Given the description of an element on the screen output the (x, y) to click on. 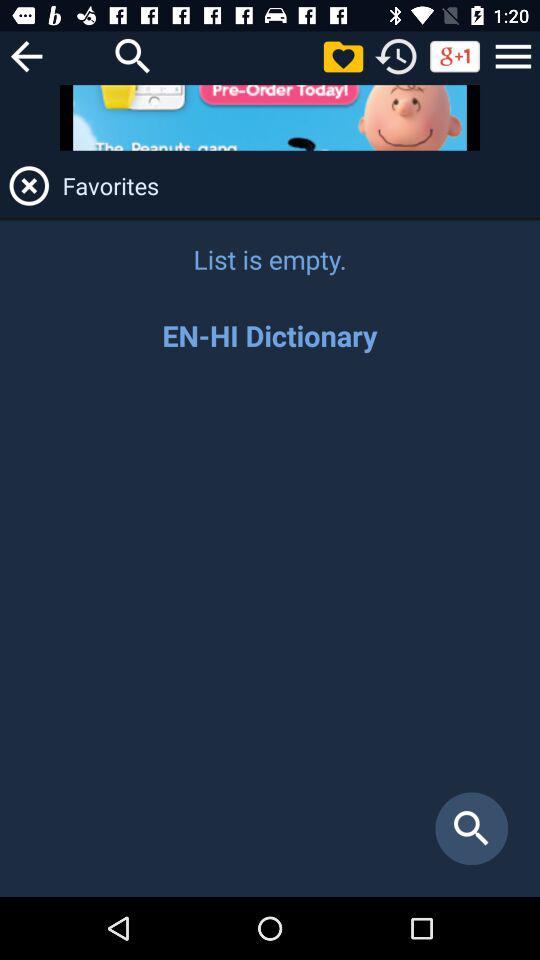
search the app (270, 635)
